Given the description of an element on the screen output the (x, y) to click on. 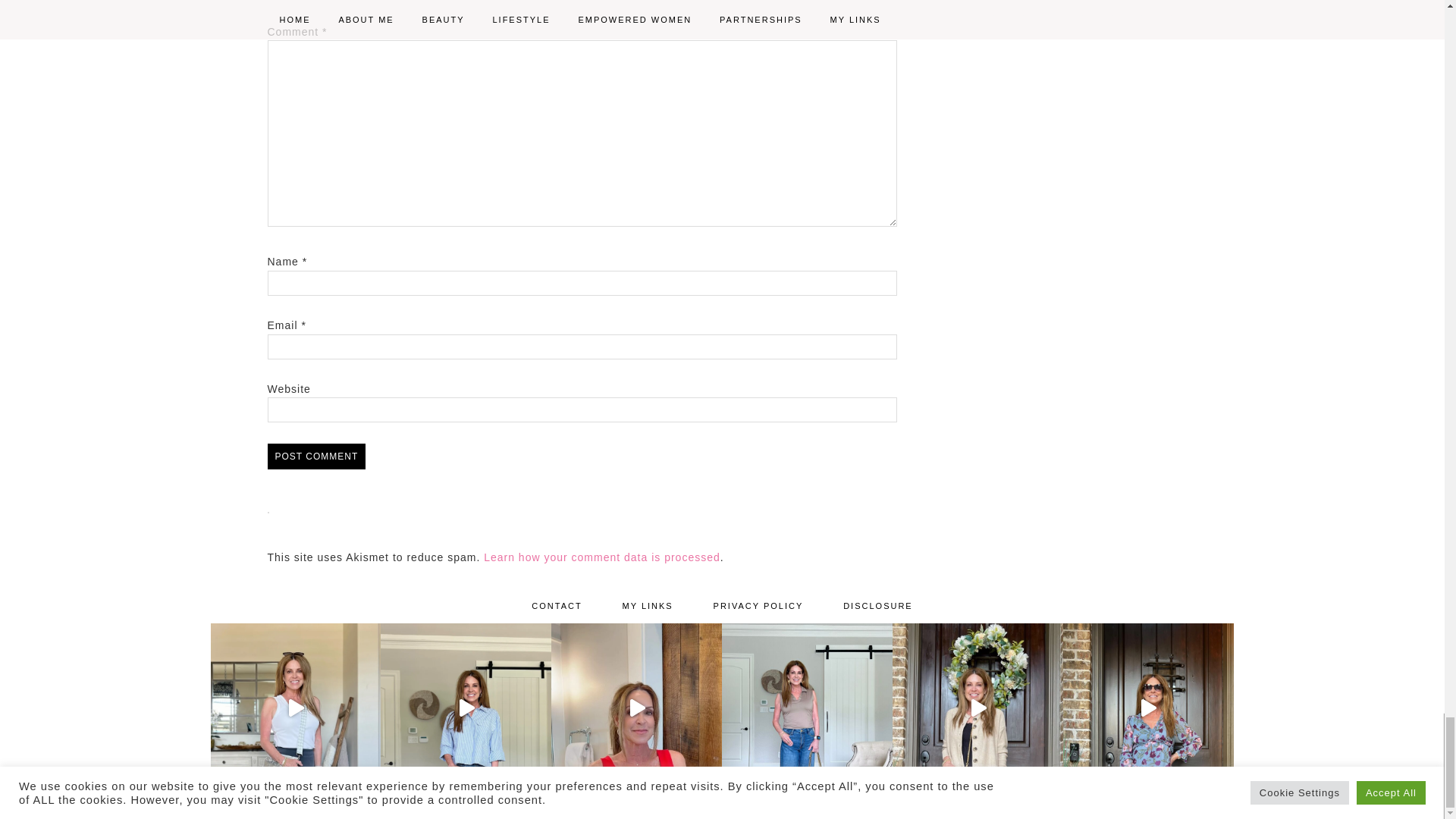
Post Comment (315, 456)
